Given the description of an element on the screen output the (x, y) to click on. 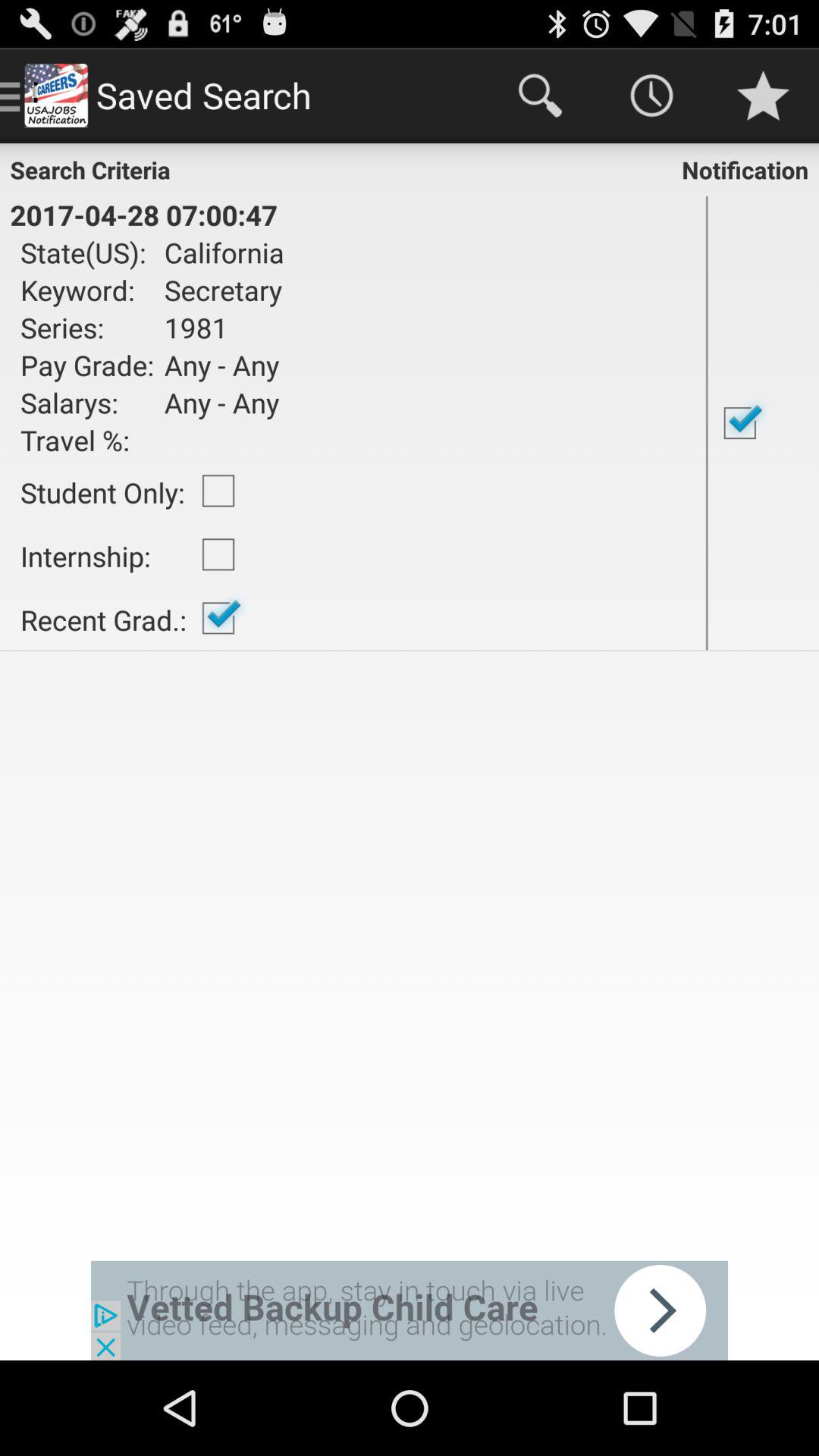
turn off the item next to the saved search app (540, 95)
